Given the description of an element on the screen output the (x, y) to click on. 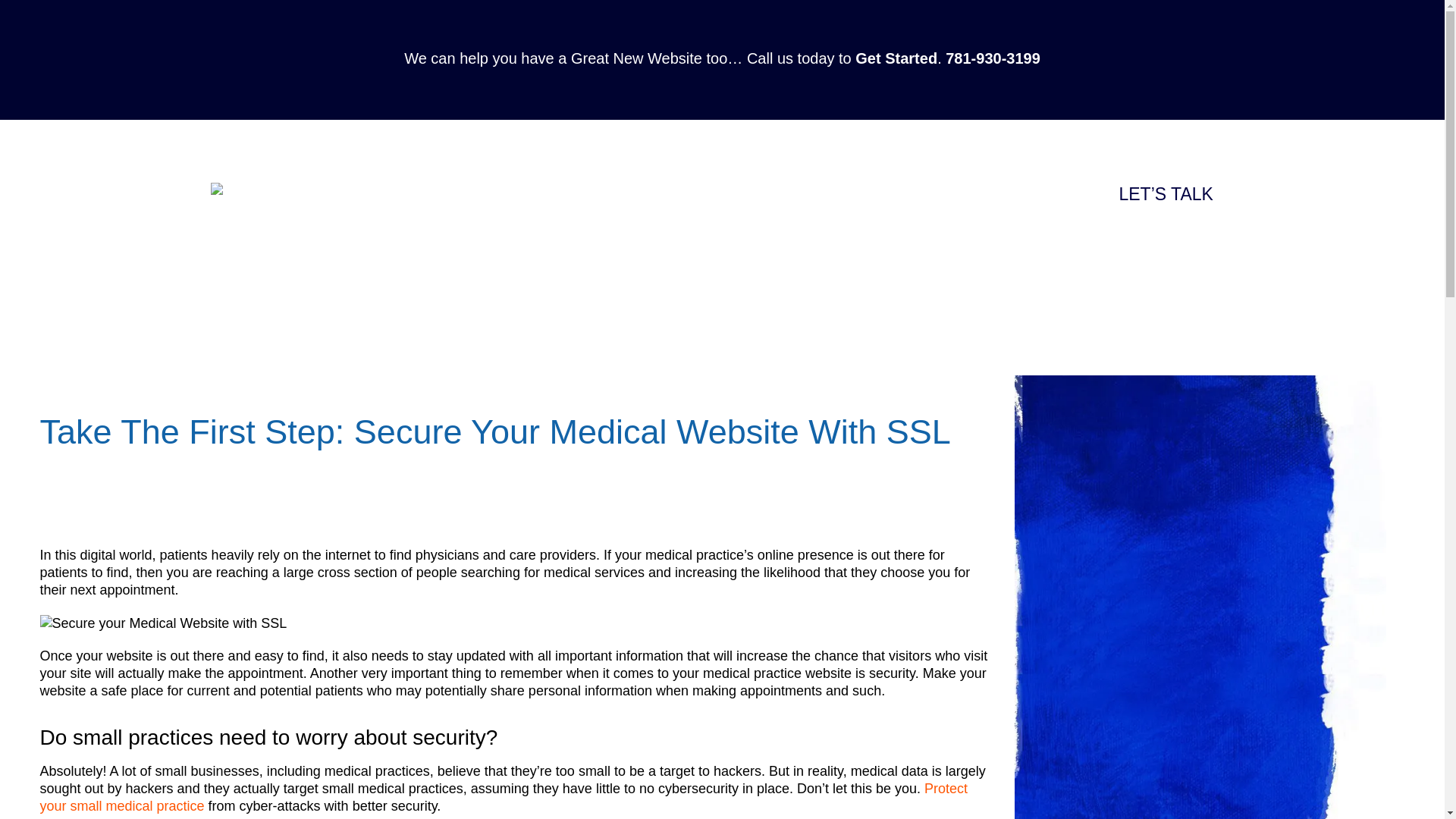
WEBSITE PORTFOLIO (751, 227)
WEBSITE PACKAGES (1078, 227)
781-930-3199 (1007, 200)
Get Started (896, 57)
SERVICES (867, 227)
781-930-3199 (992, 57)
RESOURCES (956, 227)
Secure your Medical Website with SSL (162, 623)
